Given the description of an element on the screen output the (x, y) to click on. 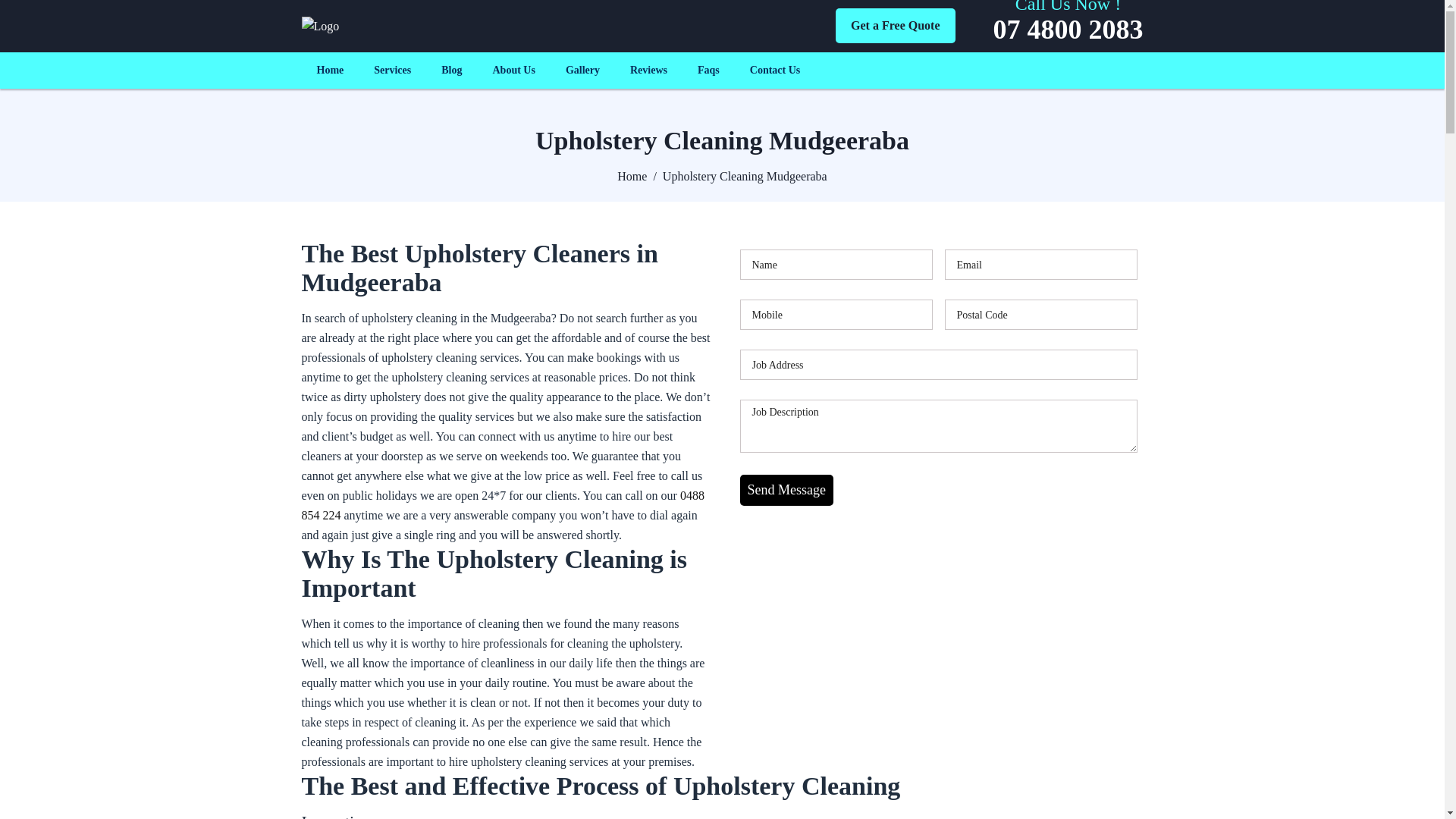
Home Element type: text (631, 175)
Get a Free Quote Element type: text (894, 25)
Contact Us Element type: text (774, 70)
Gallery Element type: text (582, 70)
Home Element type: text (330, 70)
0488 854 224 Element type: text (502, 505)
Send Message Element type: text (786, 489)
Blog Element type: text (451, 70)
Call Us Now !
07 4800 2083 Element type: text (1068, 26)
Faqs Element type: text (708, 70)
Services Element type: text (392, 70)
Reviews Element type: text (648, 70)
About Us Element type: text (513, 70)
